Given the description of an element on the screen output the (x, y) to click on. 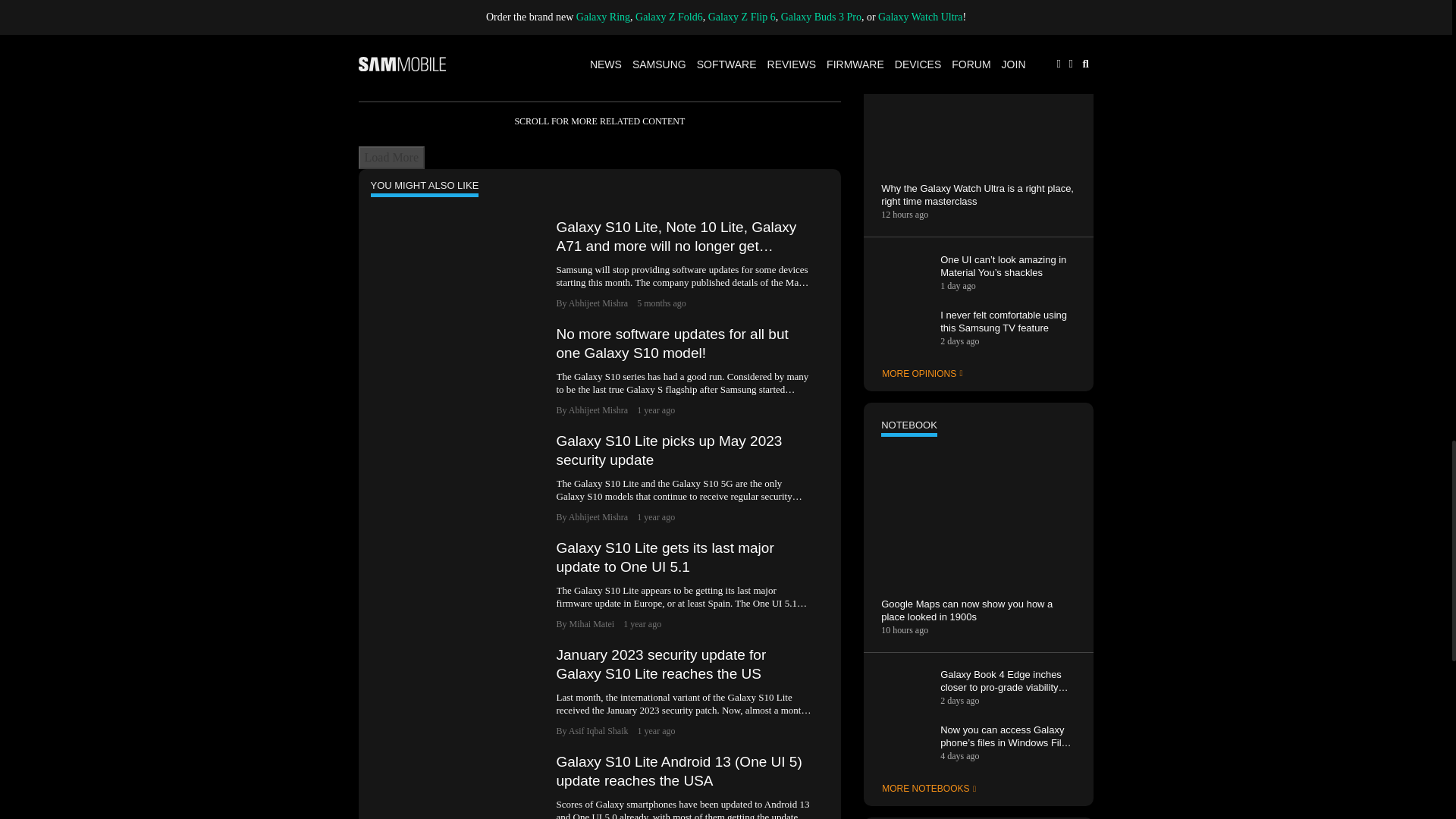
SCROLL FOR MORE RELATED CONTENT (599, 120)
